Given the description of an element on the screen output the (x, y) to click on. 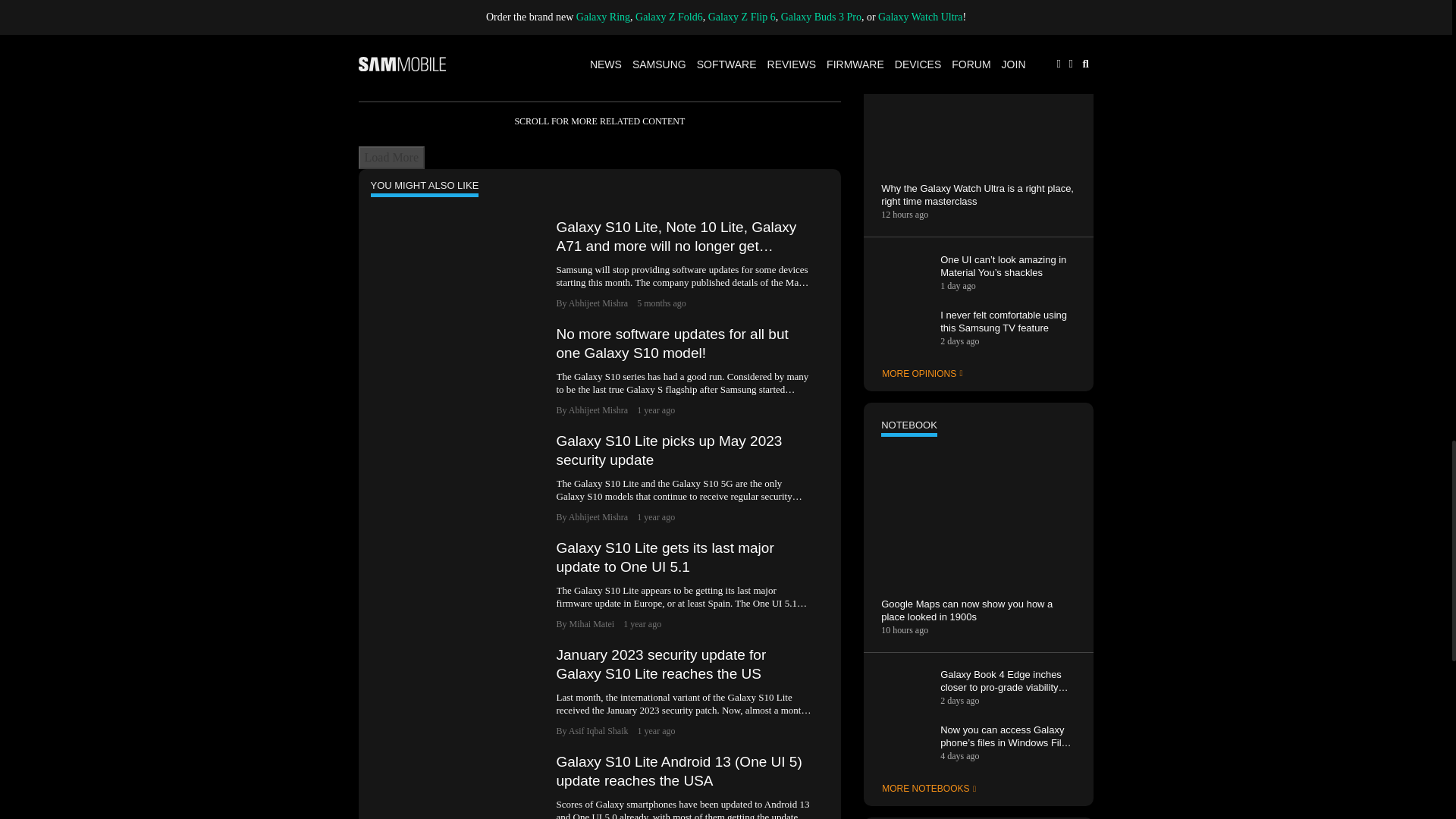
SCROLL FOR MORE RELATED CONTENT (599, 120)
